Given the description of an element on the screen output the (x, y) to click on. 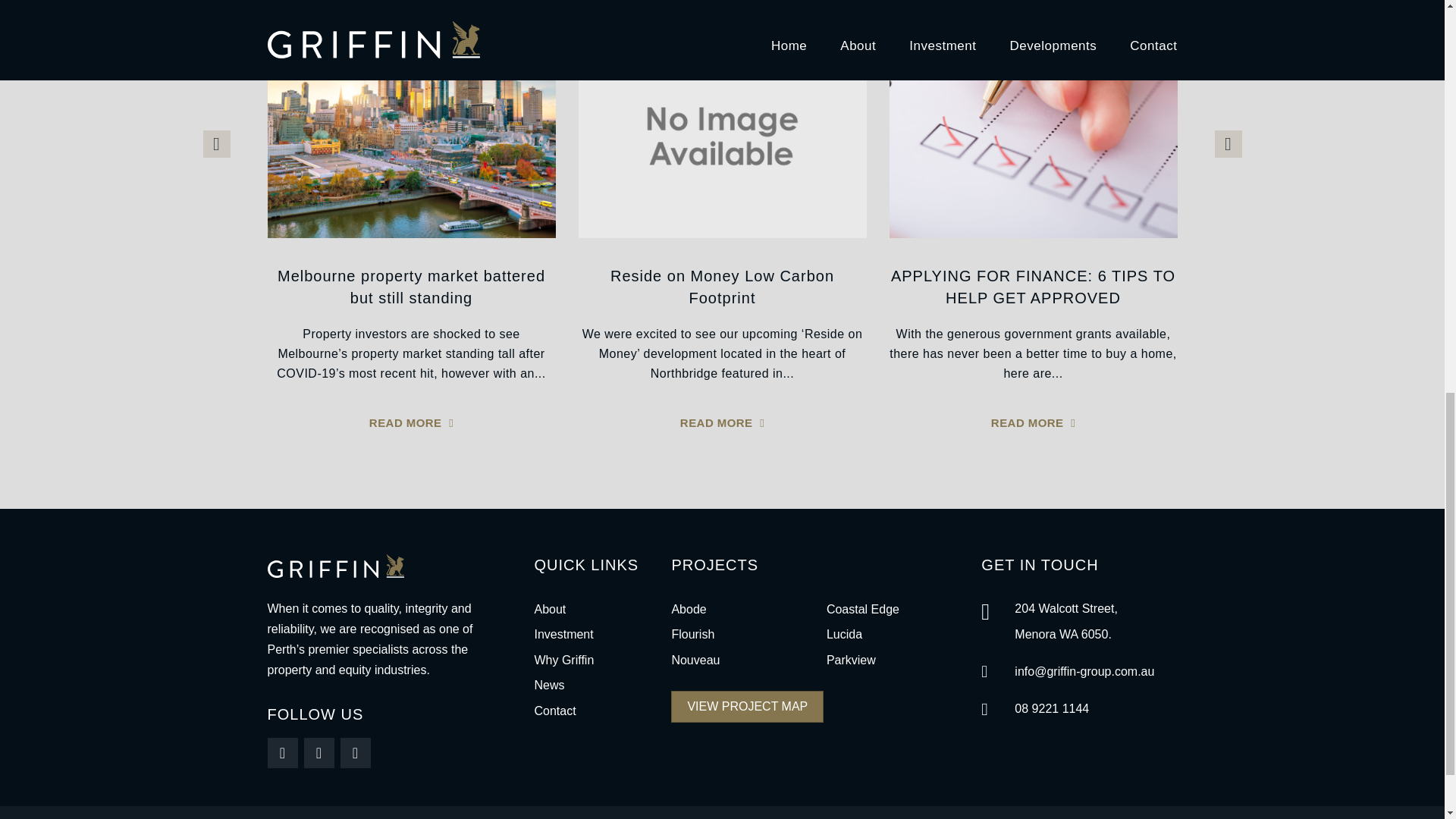
Previous (216, 144)
